Given the description of an element on the screen output the (x, y) to click on. 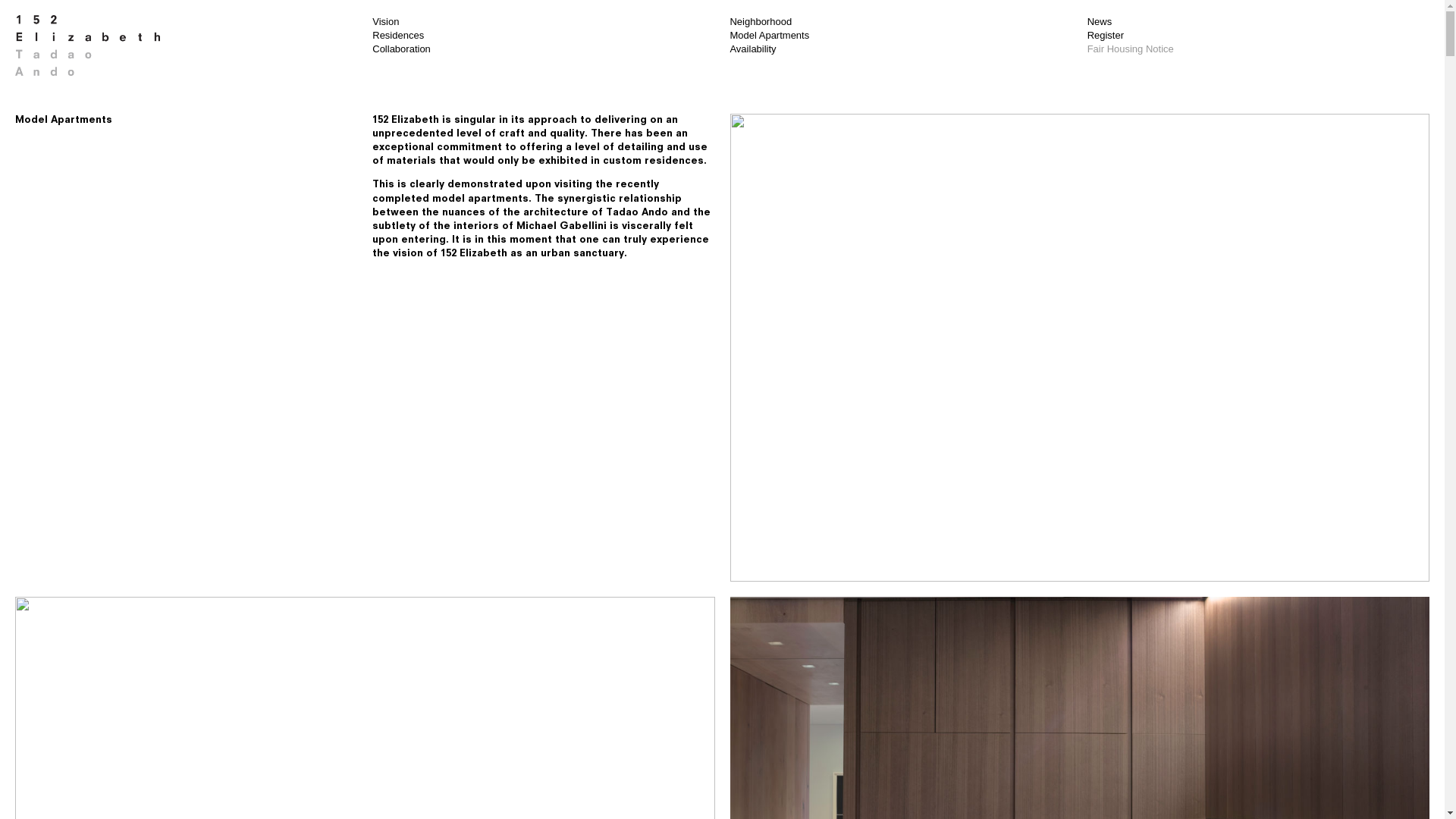
Legal Disclaimer & Privacy Policy Element type: text (441, 803)
(917) 699 3724 Element type: text (452, 748)
Fair Housing Notice Element type: text (1134, 669)
Availability Element type: text (752, 48)
Register Element type: text (1109, 655)
Vision Element type: text (381, 641)
Collaboration Element type: text (401, 48)
News Element type: text (1099, 21)
press@152elizabethst.com Element type: text (498, 734)
Fair Housing Notice Element type: text (1130, 48)
Compass Element type: text (518, 762)
M18 Element type: text (454, 790)
Neighborhood Element type: text (760, 641)
Availability Element type: text (752, 669)
News Element type: text (1103, 641)
Vision Element type: text (385, 21)
Residences Element type: text (397, 34)
Neighborhood Element type: text (760, 21)
Collaboration Element type: text (397, 669)
Top Element type: text (23, 642)
Model Apartments Element type: text (769, 655)
debra.lachance@compass.com Element type: text (517, 721)
Residences Element type: text (394, 655)
Model Apartments Element type: text (769, 34)
Register Element type: text (1105, 34)
